Given the description of an element on the screen output the (x, y) to click on. 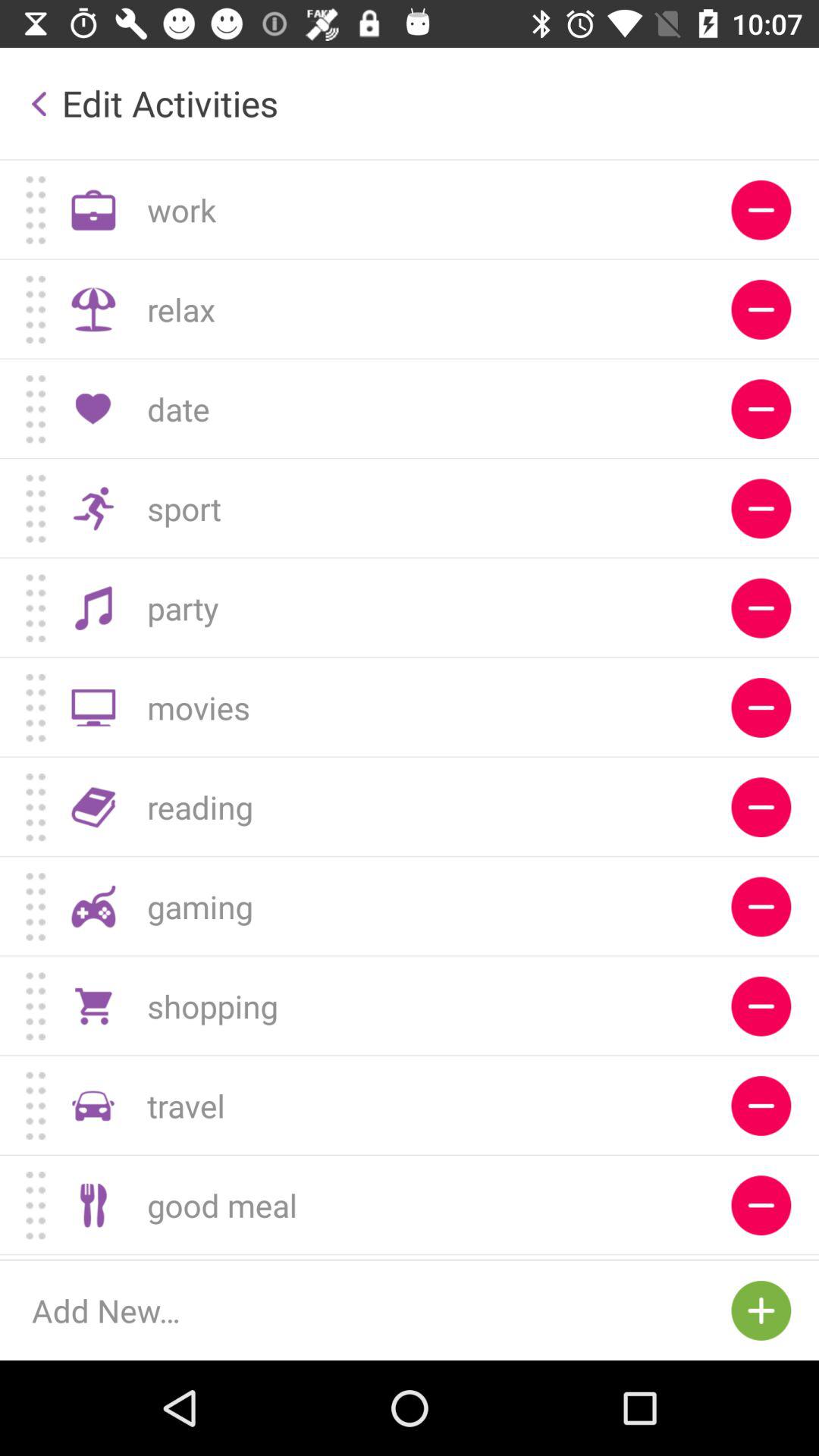
remove list item (761, 408)
